Given the description of an element on the screen output the (x, y) to click on. 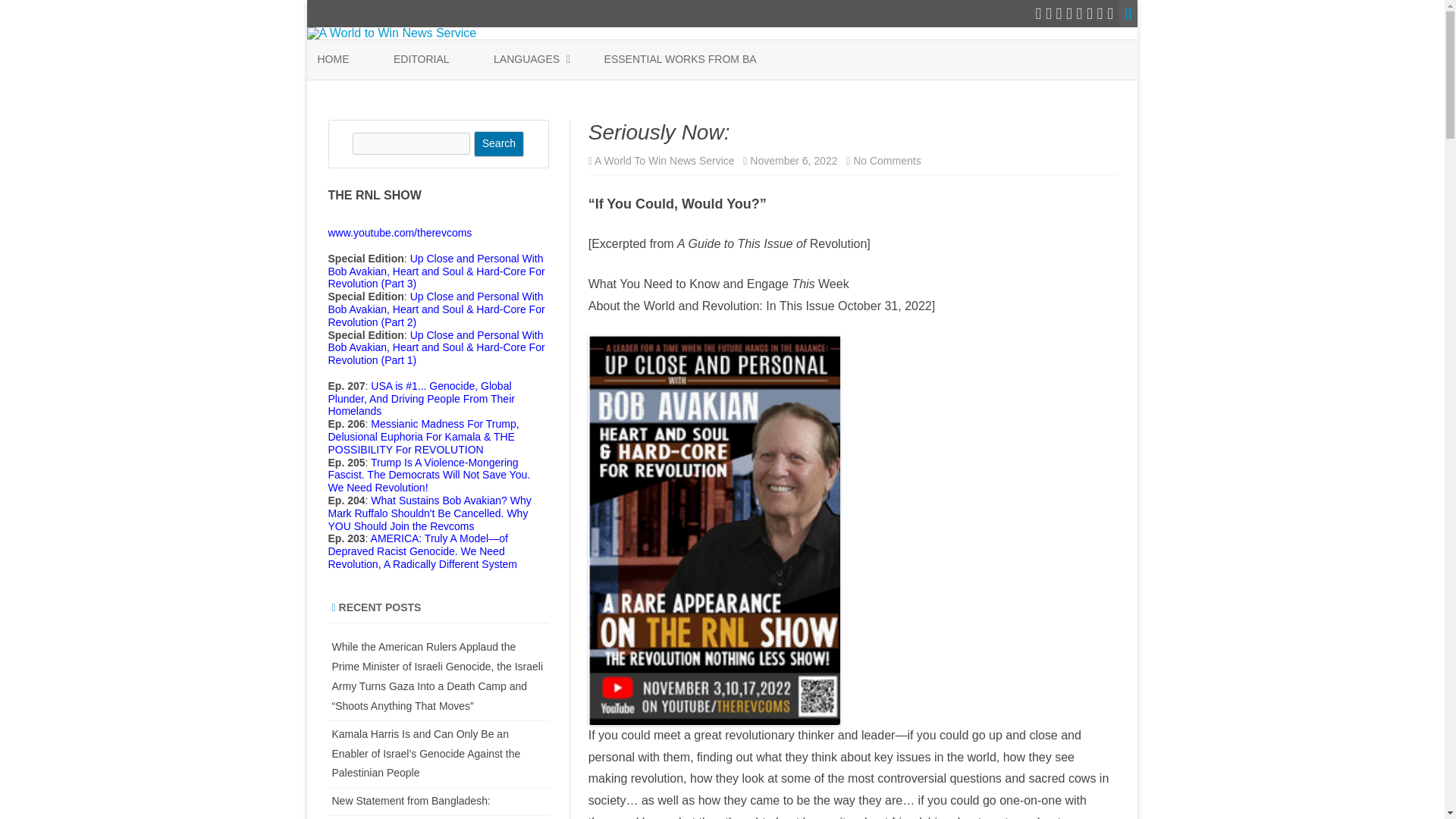
Search (499, 144)
ARABIC (569, 94)
LANGUAGES (526, 59)
EDITORIAL (421, 59)
